Given the description of an element on the screen output the (x, y) to click on. 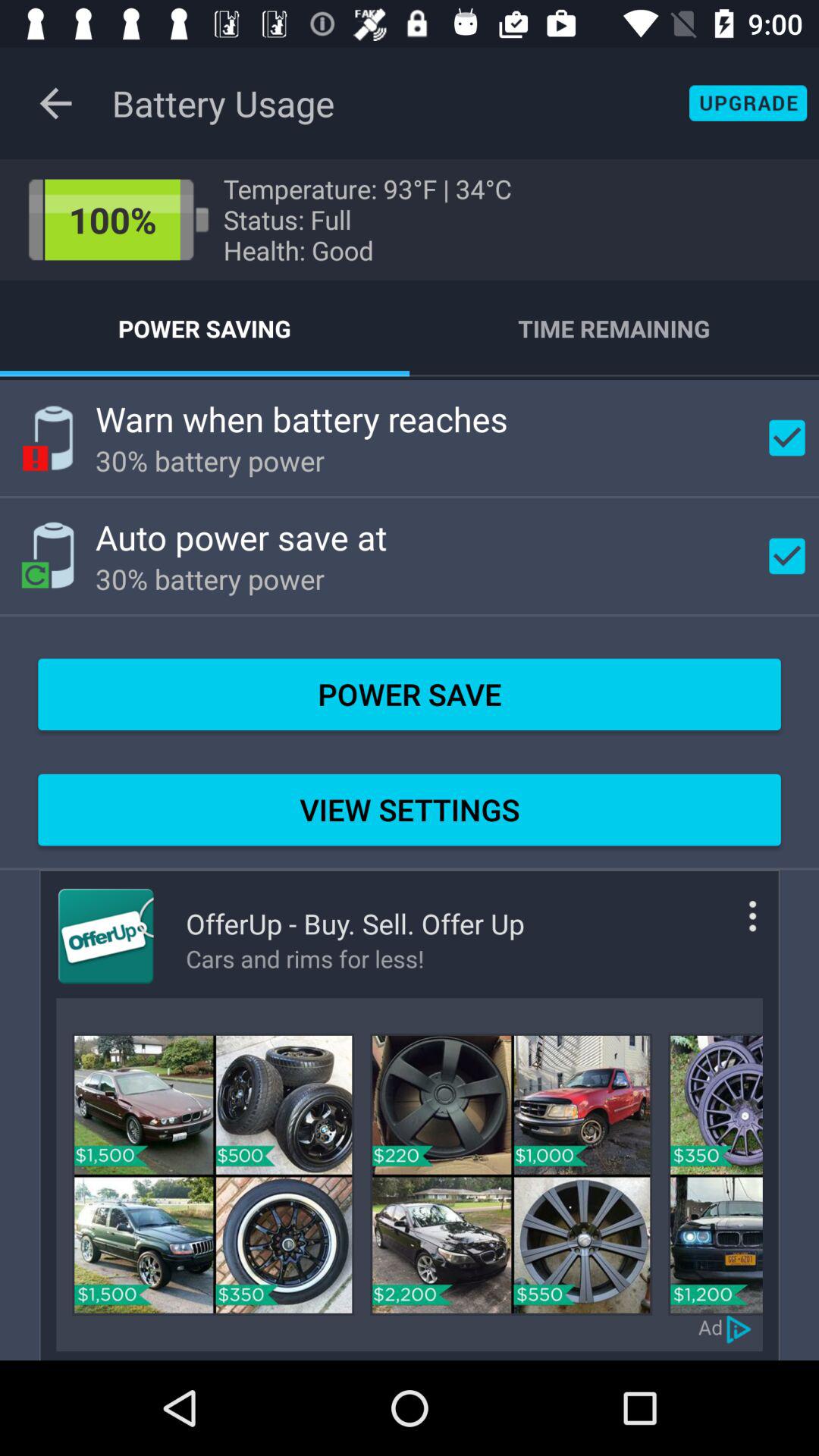
shows upgrade button (748, 103)
